Given the description of an element on the screen output the (x, y) to click on. 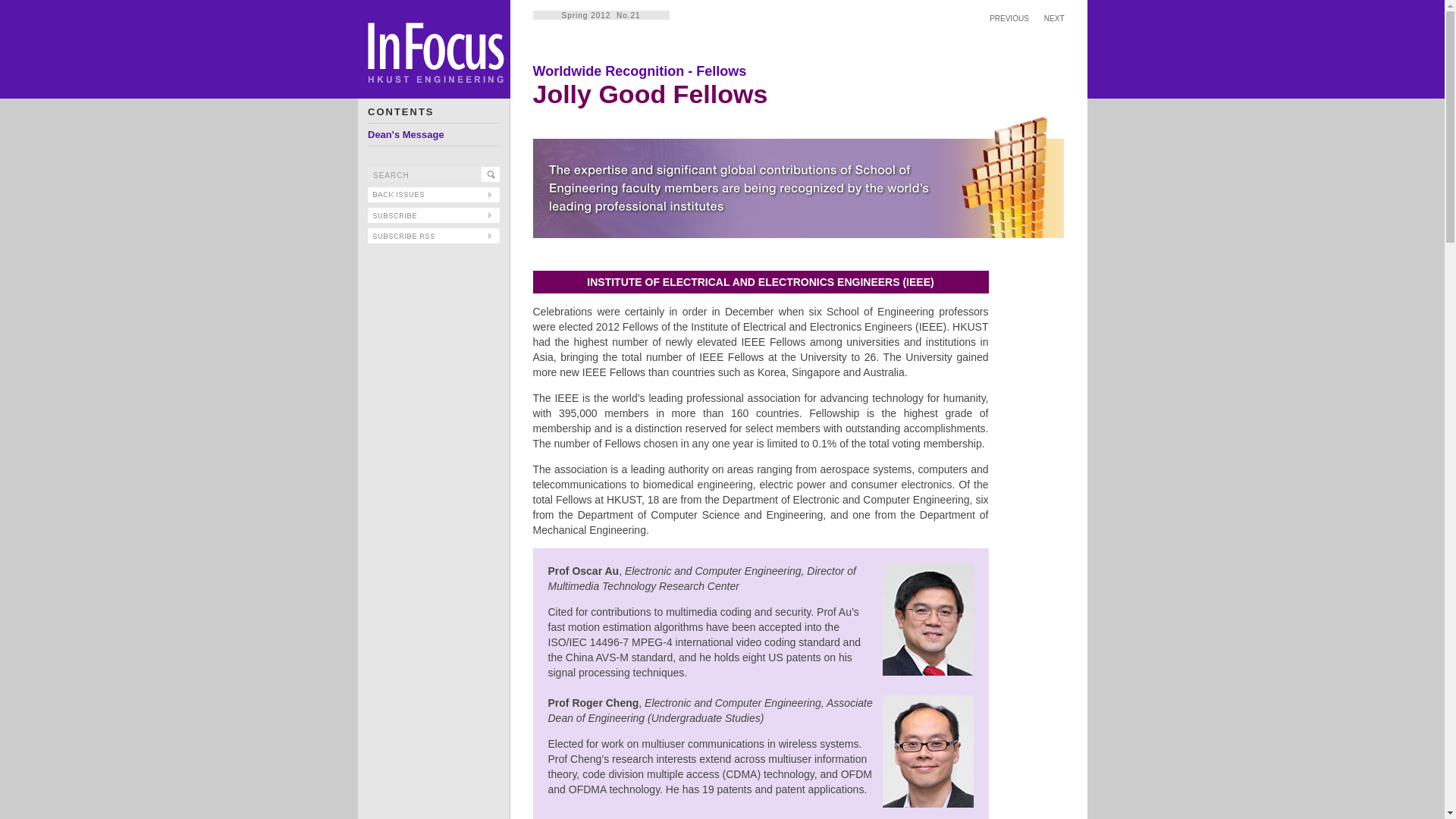
CONTENTS (400, 111)
Dean's Message (406, 134)
PREVIOUS (1009, 17)
NEXT (1053, 17)
SEARCH (424, 174)
